Given the description of an element on the screen output the (x, y) to click on. 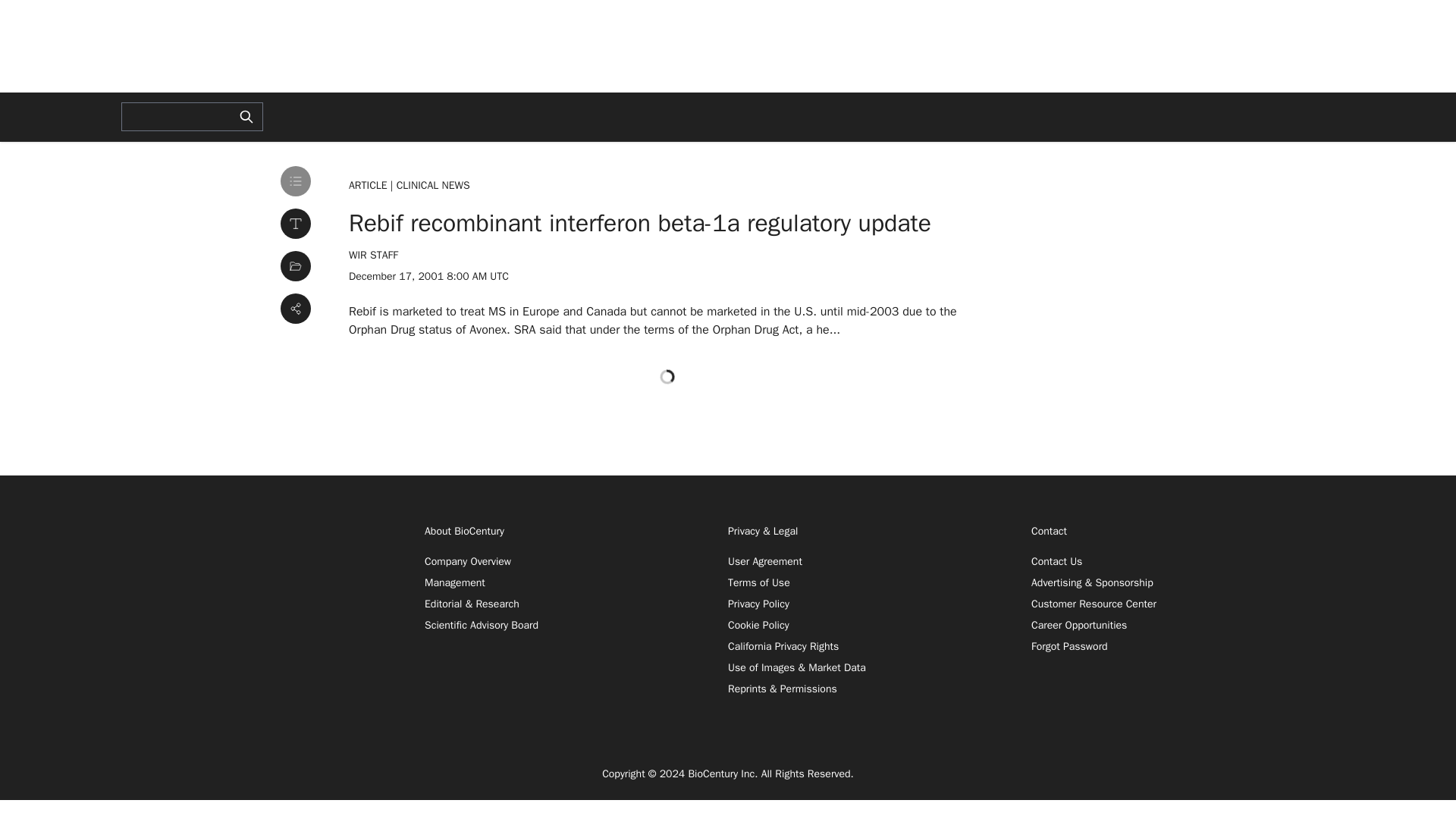
Career Opportunities (1078, 625)
Contact Us (1055, 561)
Management (454, 582)
Forgot Password (1069, 645)
California Privacy Rights (783, 645)
User Agreement (765, 561)
Privacy Policy (758, 603)
Cookie Policy (758, 625)
Terms of Use (759, 582)
Company Overview (468, 561)
Customer Resource Center (1093, 603)
Scientific Advisory Board (481, 625)
